Given the description of an element on the screen output the (x, y) to click on. 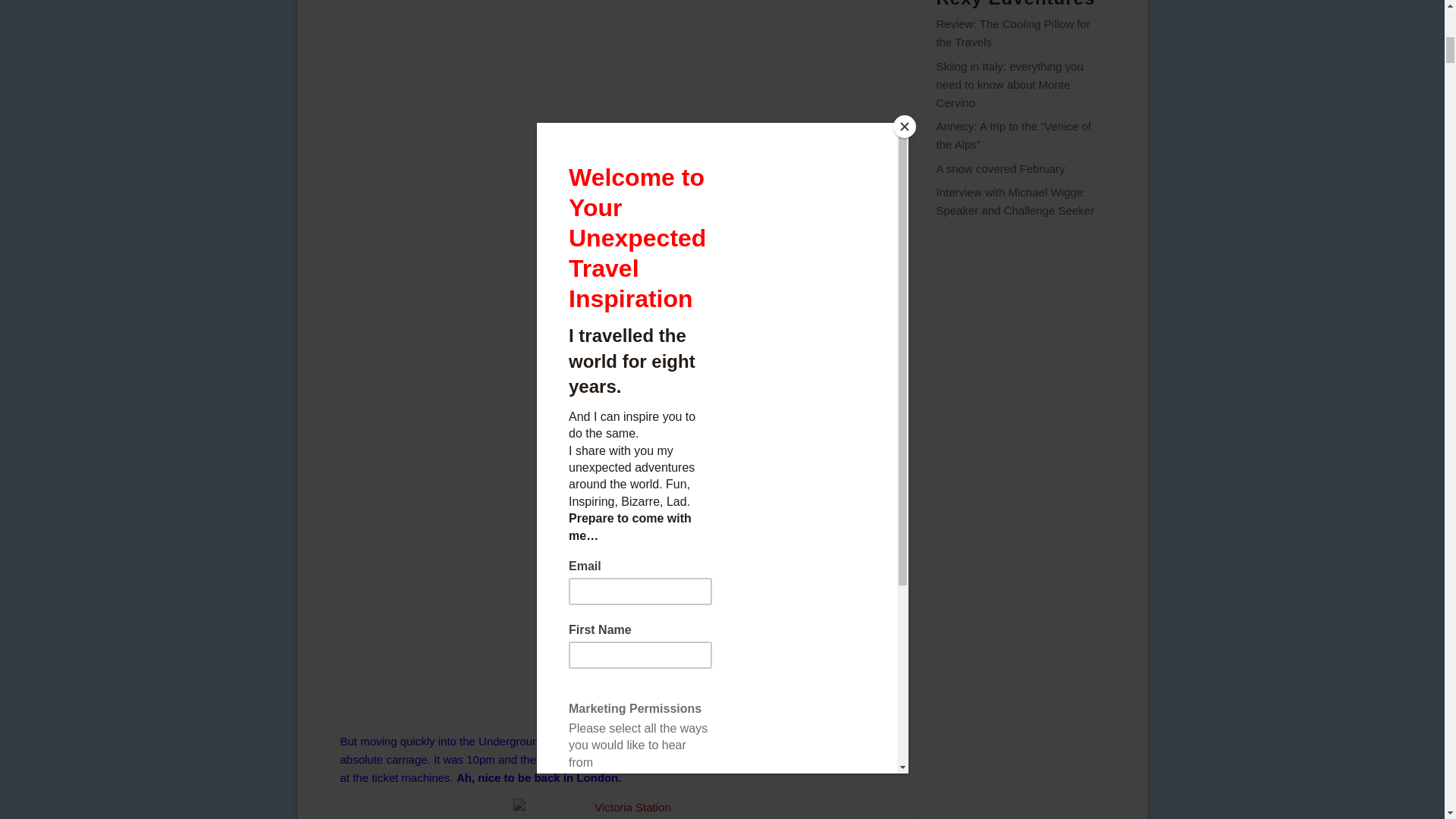
Victoria Station (625, 808)
